Given the description of an element on the screen output the (x, y) to click on. 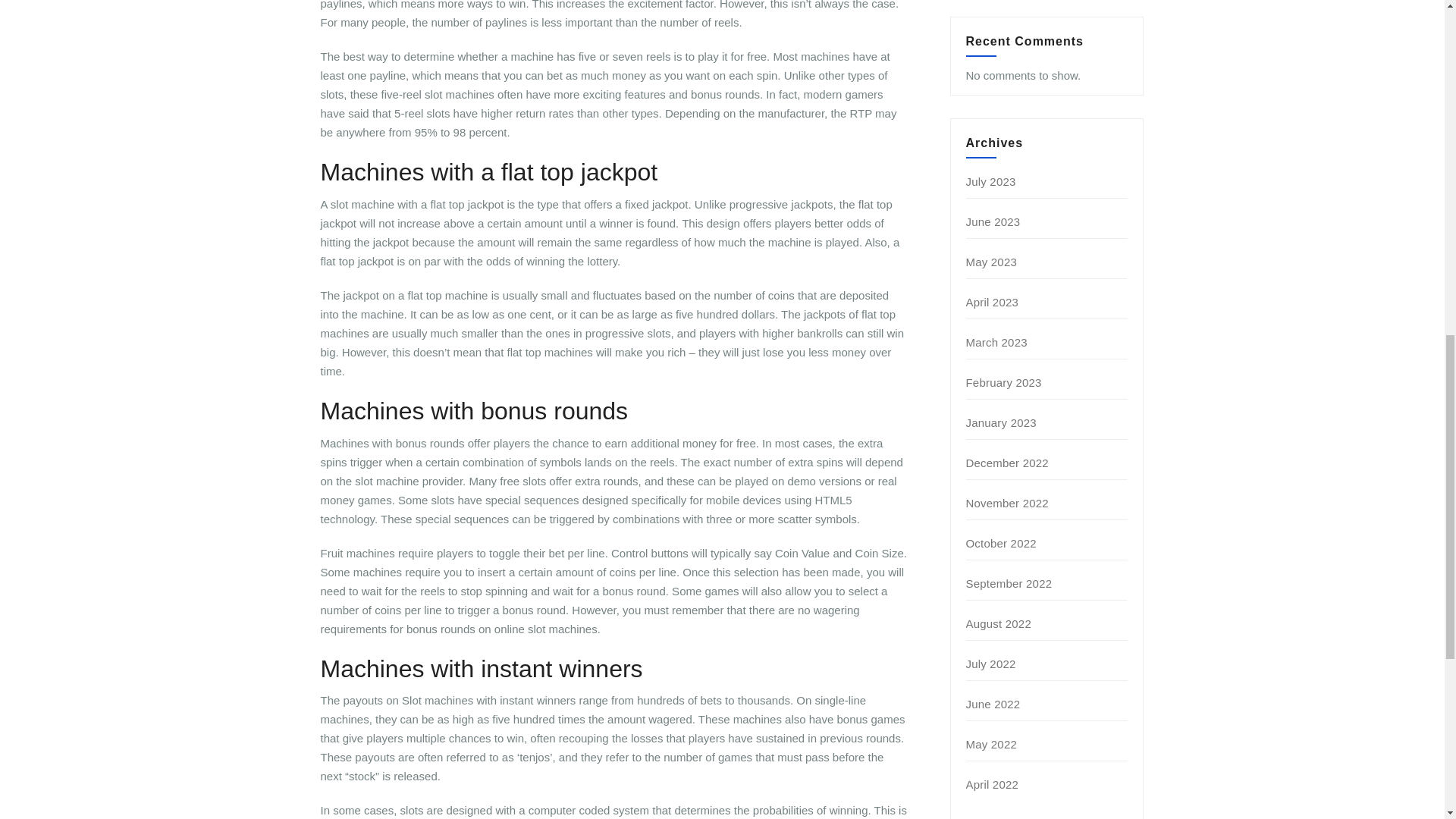
February 2023 (1004, 382)
November 2022 (1007, 502)
September 2022 (1009, 583)
July 2022 (991, 663)
January 2023 (1001, 422)
May 2023 (991, 261)
December 2022 (1007, 462)
April 2023 (992, 301)
March 2023 (996, 341)
October 2022 (1001, 543)
